Given the description of an element on the screen output the (x, y) to click on. 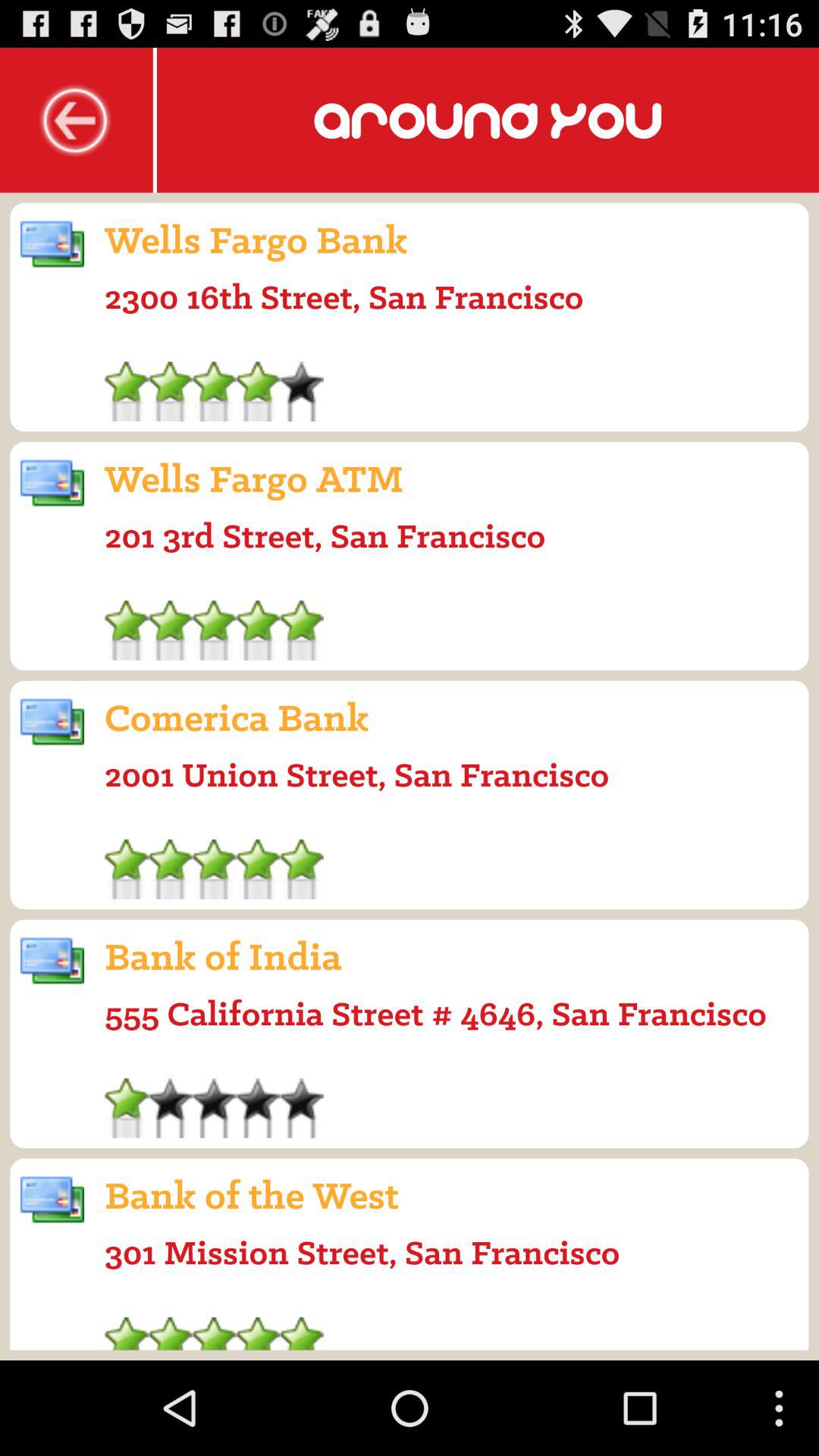
scroll to the comerica bank app (236, 717)
